Given the description of an element on the screen output the (x, y) to click on. 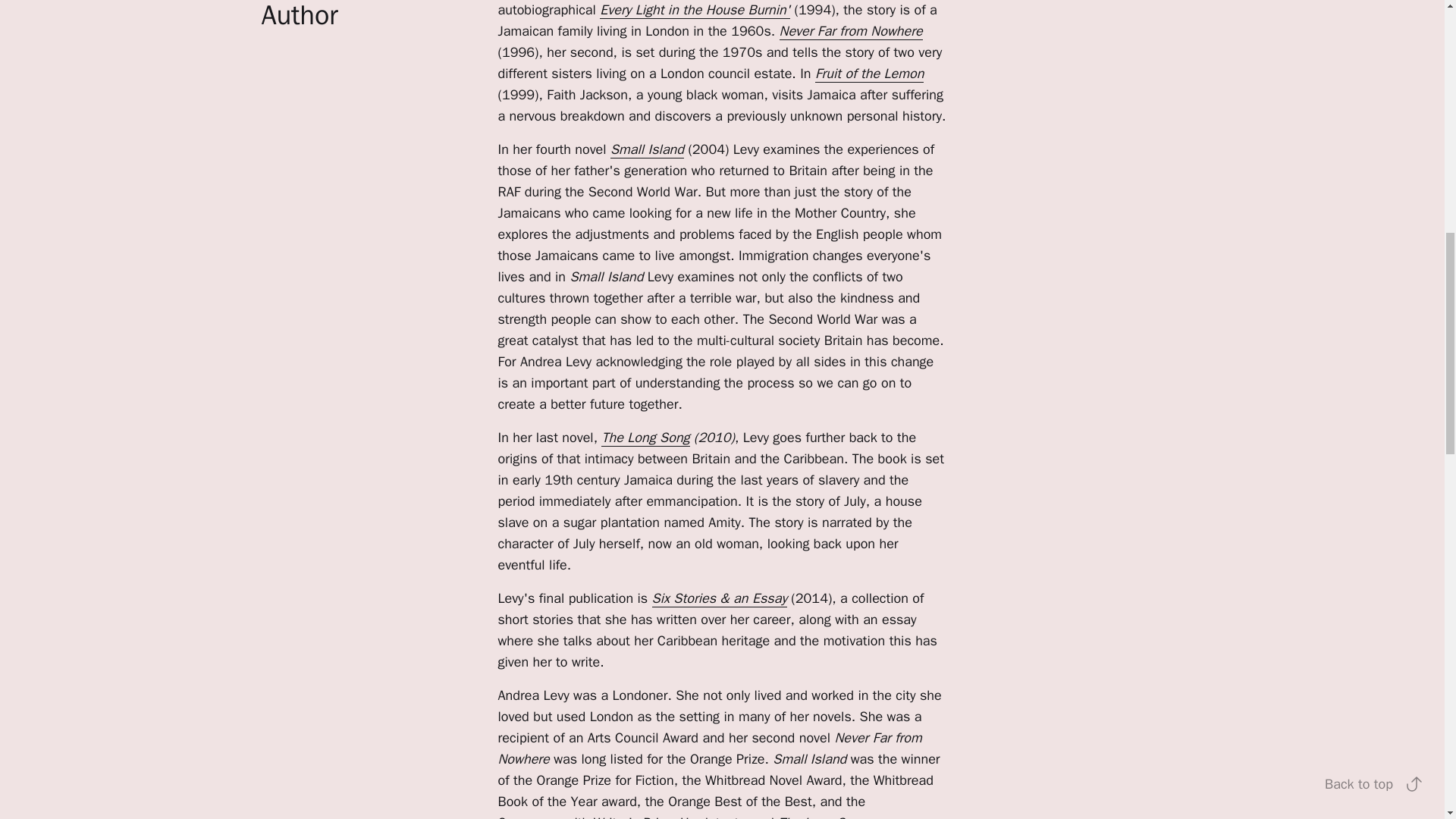
Every Light in the House Burnin' (694, 9)
The Long Song (644, 437)
Fruit of the Lemon (869, 73)
Small Island (647, 149)
Never Far from Nowhere (850, 31)
